Given the description of an element on the screen output the (x, y) to click on. 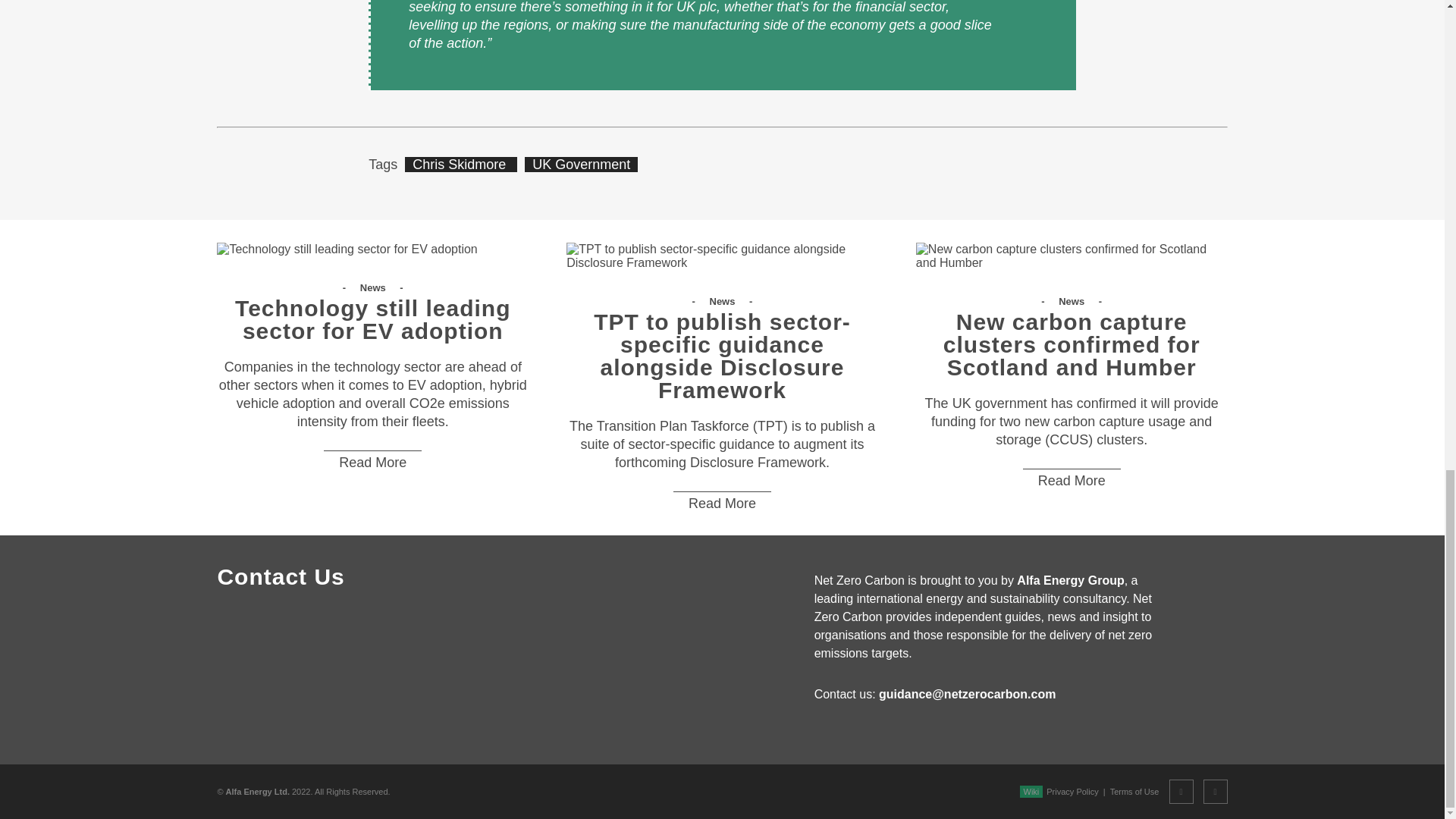
Alfa Energy Group (1070, 580)
News (723, 301)
Read More (721, 503)
Privacy Policy (1071, 791)
Chris Skidmore (460, 164)
Alfa Energy Ltd. (257, 791)
Read More (372, 462)
LinkedIn (1215, 791)
Wiki (1030, 791)
UK Government (580, 164)
Read More (1072, 480)
